Given the description of an element on the screen output the (x, y) to click on. 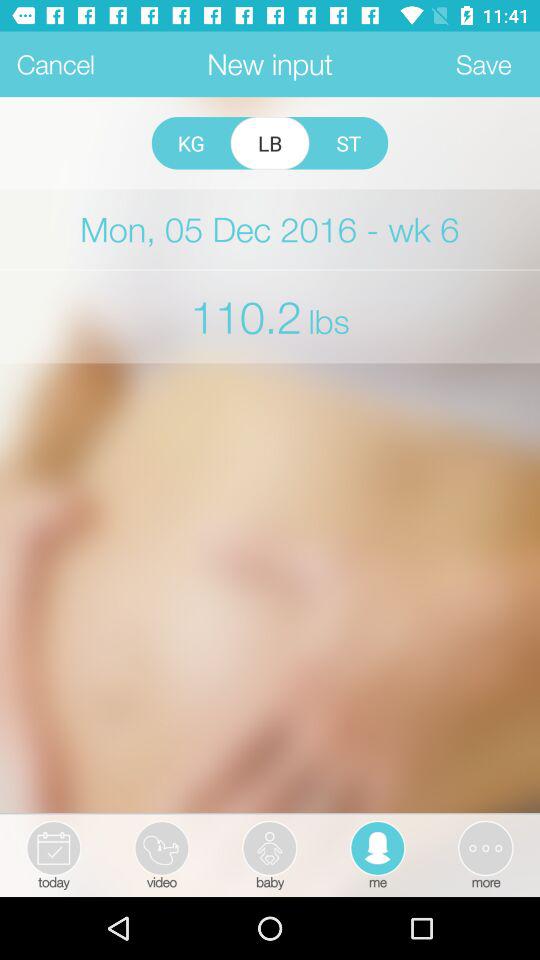
tap app below the new input (269, 143)
